Given the description of an element on the screen output the (x, y) to click on. 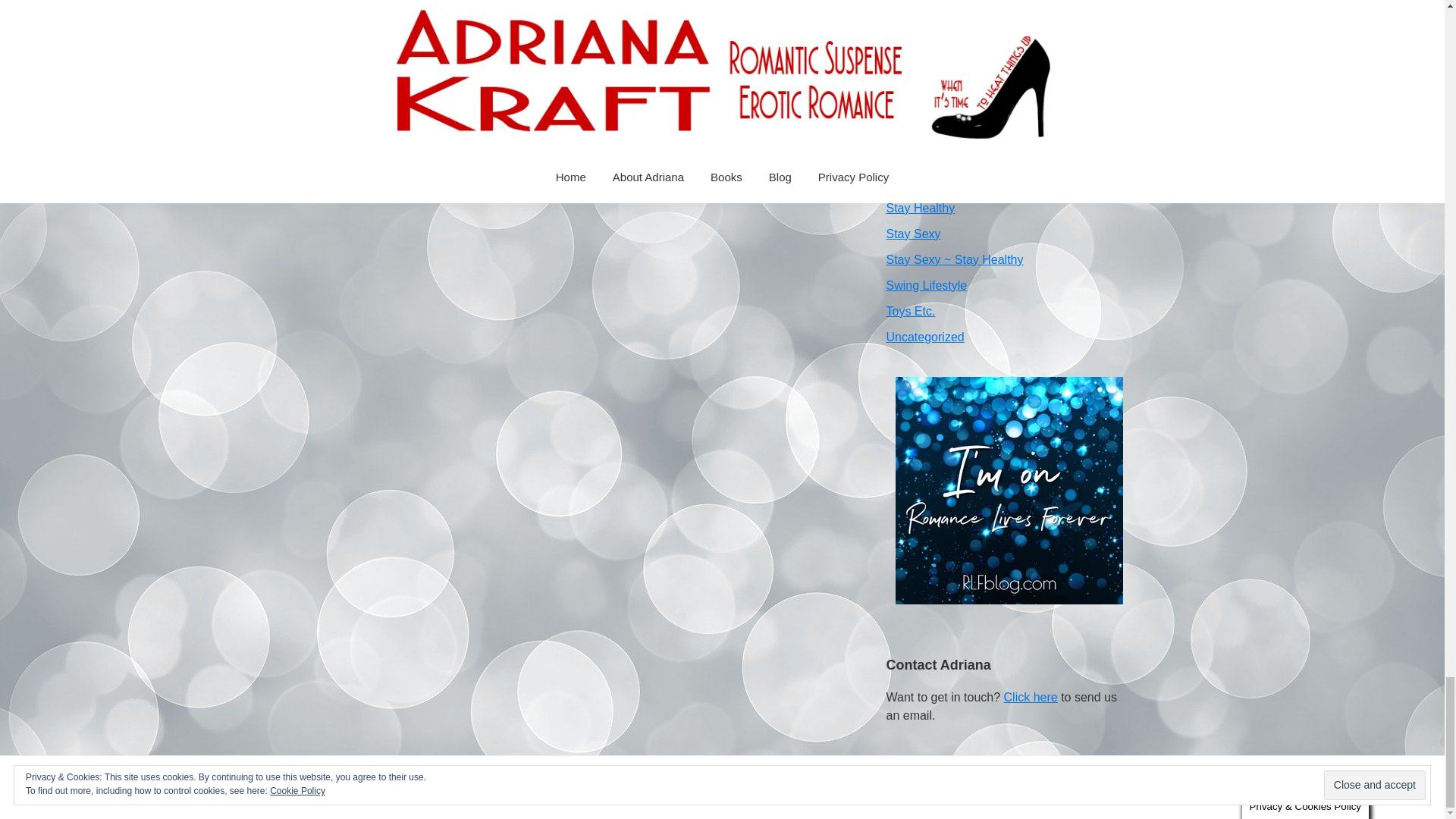
Find Books on Romance Lives Forever (1008, 490)
